Given the description of an element on the screen output the (x, y) to click on. 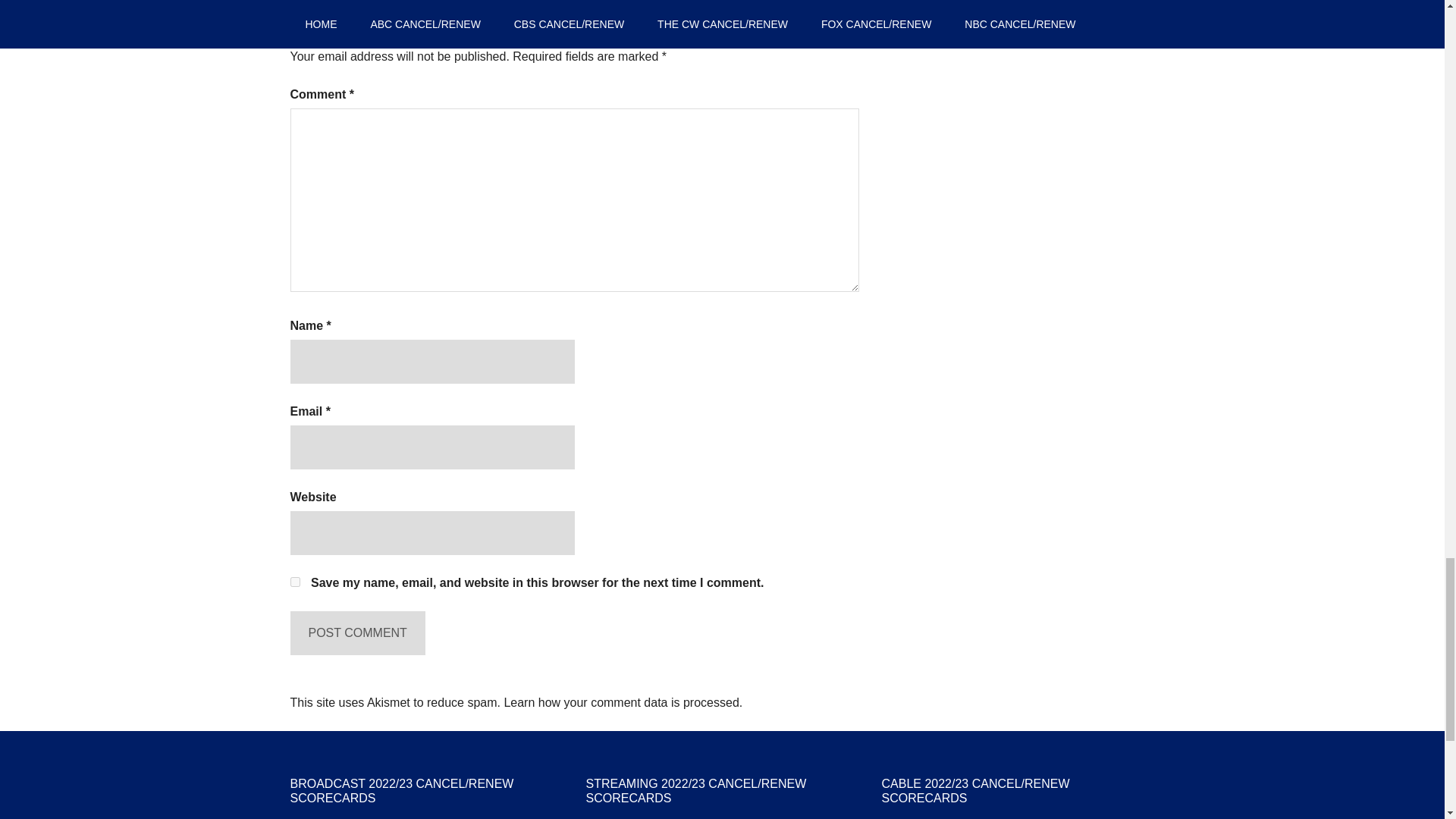
Post Comment (357, 632)
Post Comment (357, 632)
yes (294, 582)
Learn how your comment data is processed (620, 702)
